Given the description of an element on the screen output the (x, y) to click on. 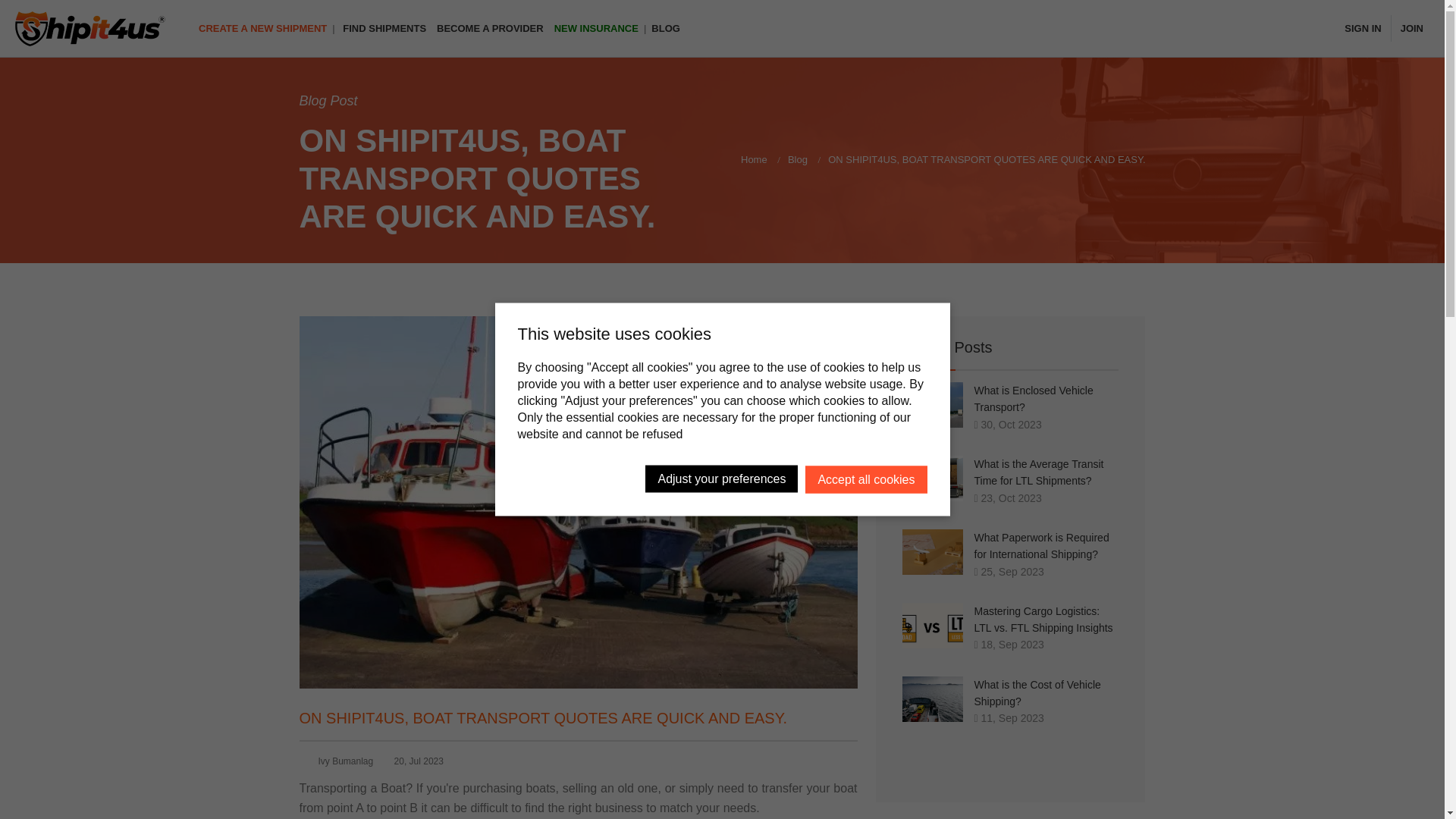
Blog (797, 159)
Home (754, 159)
What is the Cost of Vehicle Shipping? (1037, 692)
ON SHIPIT4US, BOAT TRANSPORT QUOTES ARE QUICK AND EASY. (542, 718)
NEW INSURANCE (595, 28)
What is Enclosed Vehicle Transport? (1033, 398)
FIND SHIPMENTS (383, 28)
What is the Average Transit Time for LTL Shipments? (1038, 471)
JOIN (1411, 28)
Mastering Cargo Logistics: LTL vs. FTL Shipping Insights (1043, 619)
SIGN IN (1362, 28)
What Paperwork is Required for International Shipping? (1041, 545)
BECOME A PROVIDER (489, 28)
ON SHIPIT4US, BOAT TRANSPORT QUOTES ARE QUICK AND EASY. (542, 718)
CREATE A NEW SHIPMENT (262, 28)
